Given the description of an element on the screen output the (x, y) to click on. 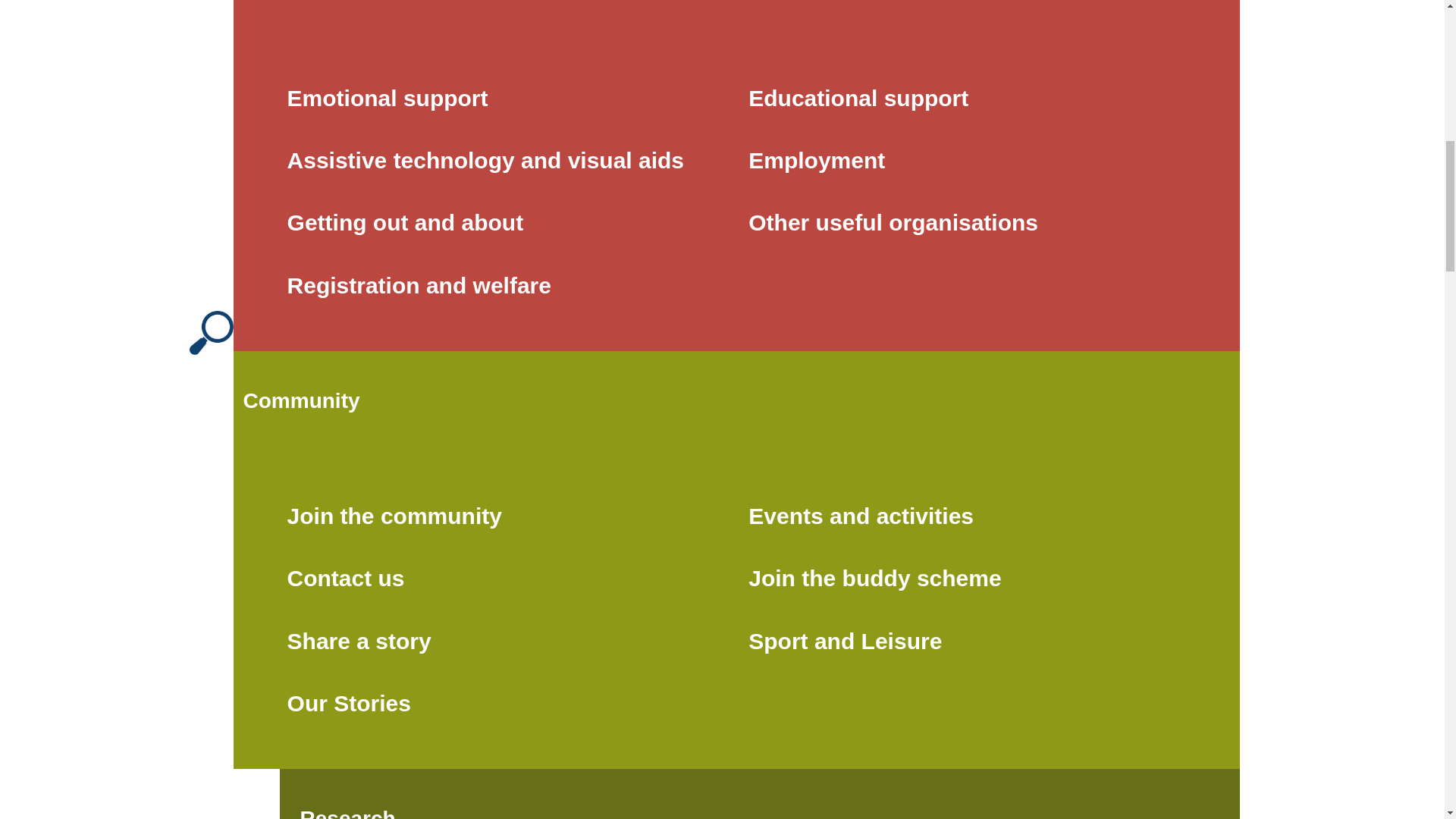
Registration and welfare (505, 284)
Community (300, 401)
Sport and Leisure (967, 640)
Contact us (505, 578)
Other useful organisations (967, 222)
Emotional support (505, 97)
Our Stories (505, 703)
Employment (967, 160)
Events and activities (967, 516)
Research (347, 794)
Share a story (505, 640)
Join the buddy scheme (967, 578)
Assistive technology and visual aids (505, 160)
Getting out and about (505, 222)
Join the community (505, 516)
